Given the description of an element on the screen output the (x, y) to click on. 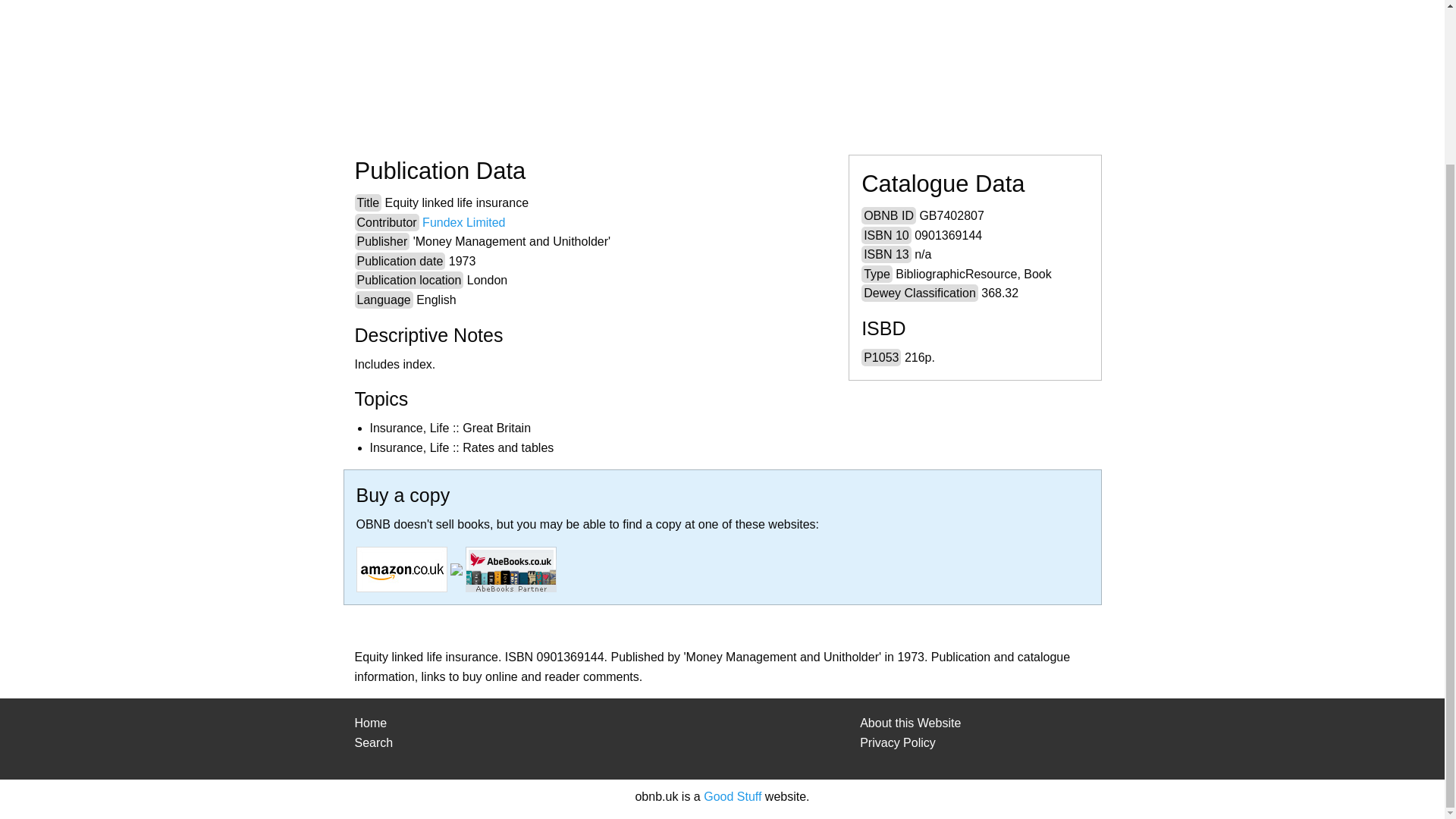
Search (374, 742)
Advertisement (784, 62)
About this Website (910, 722)
Privacy Policy (898, 742)
Fundex Limited (463, 222)
Home (371, 722)
Good Stuff (732, 796)
